Given the description of an element on the screen output the (x, y) to click on. 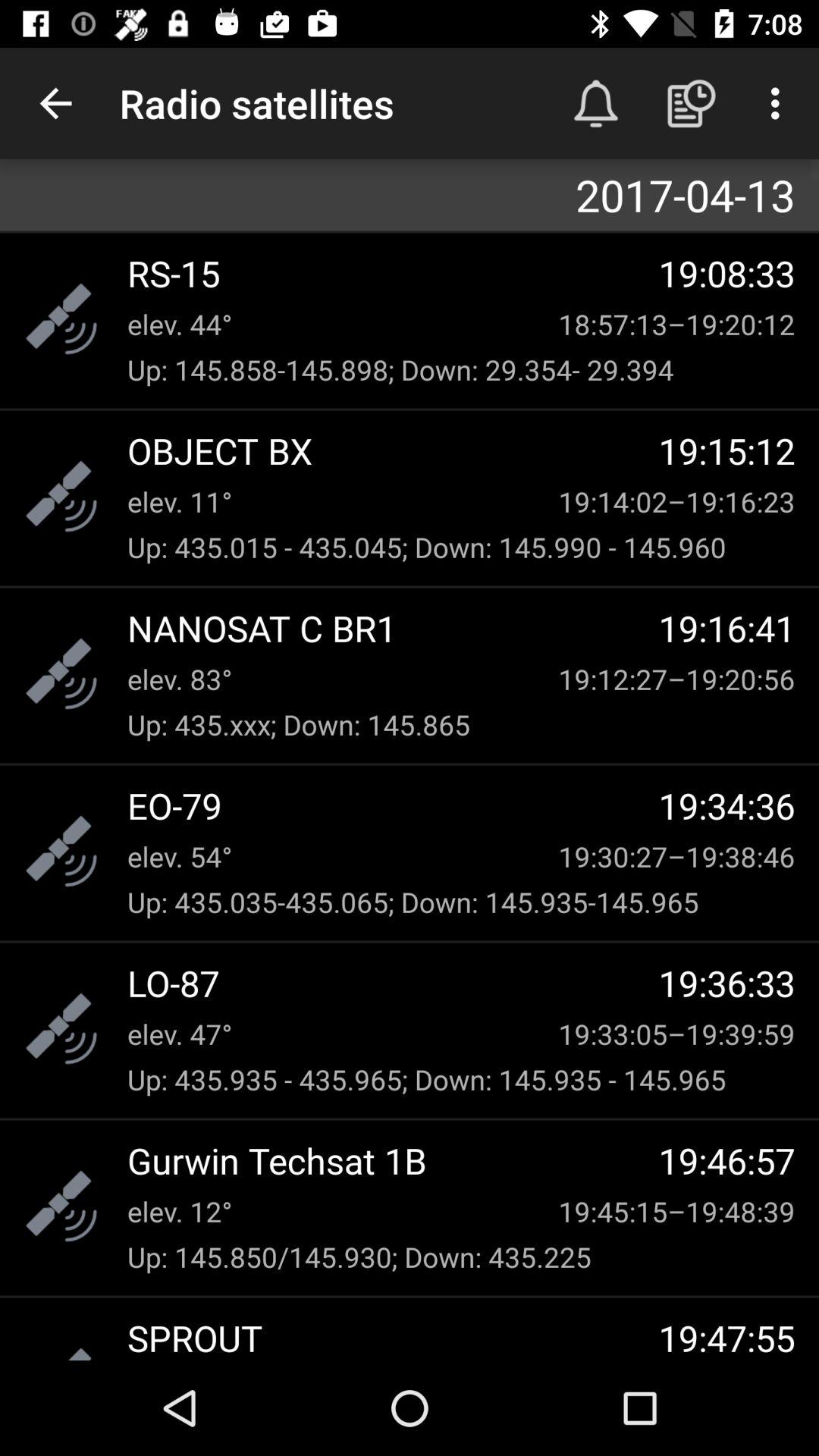
launch the item to the left of the 19:34:36 item (392, 805)
